Given the description of an element on the screen output the (x, y) to click on. 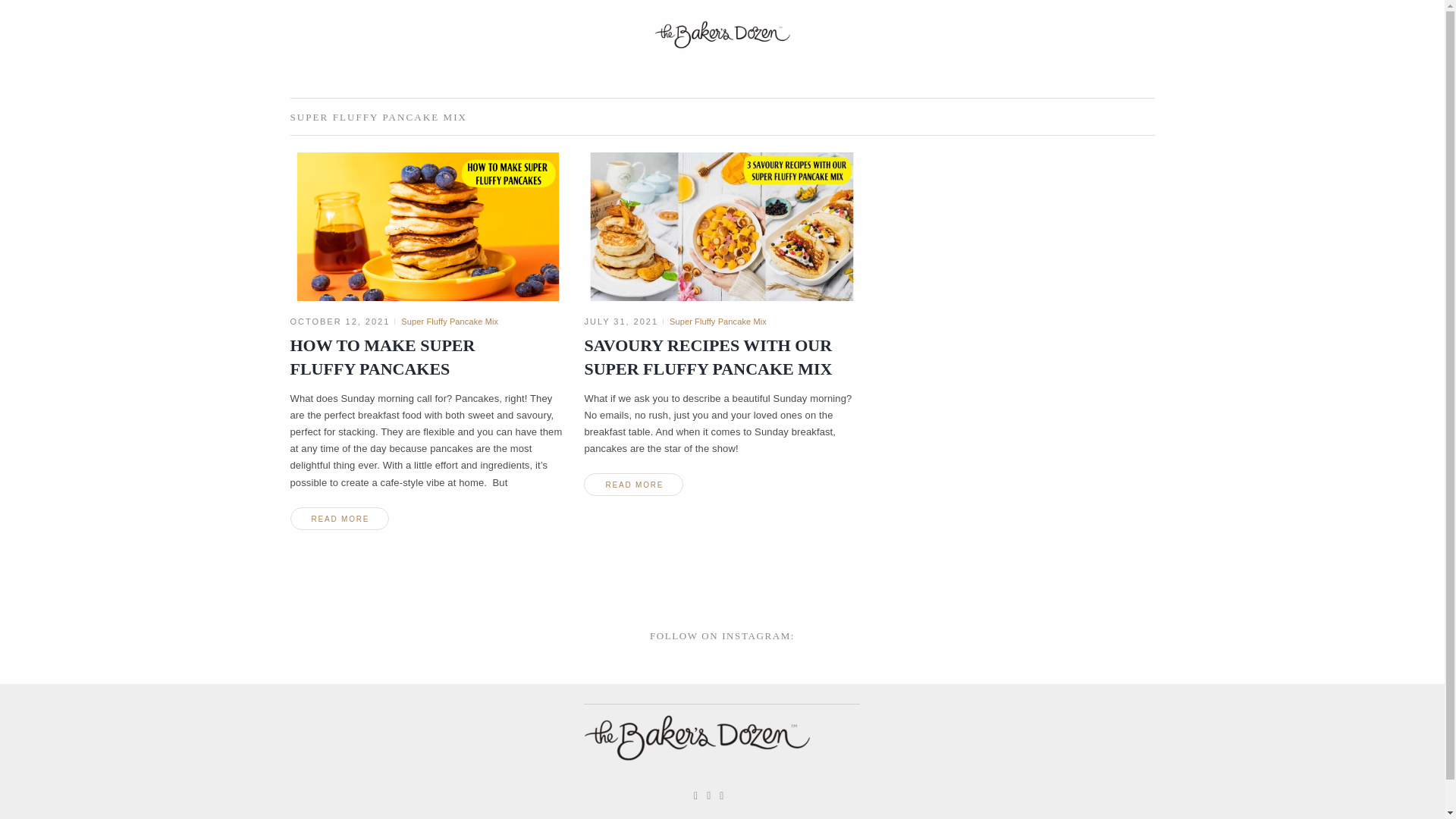
Super Fluffy Pancake Mix (449, 320)
Search (40, 11)
JULY 31, 2021 (620, 320)
READ MORE (632, 484)
READ MORE (338, 517)
HOW TO MAKE SUPER FLUFFY PANCAKES (381, 356)
OCTOBER 12, 2021 (339, 320)
Super Fluffy Pancake Mix (718, 320)
SAVOURY RECIPES WITH OUR SUPER FLUFFY PANCAKE MIX (707, 356)
